Given the description of an element on the screen output the (x, y) to click on. 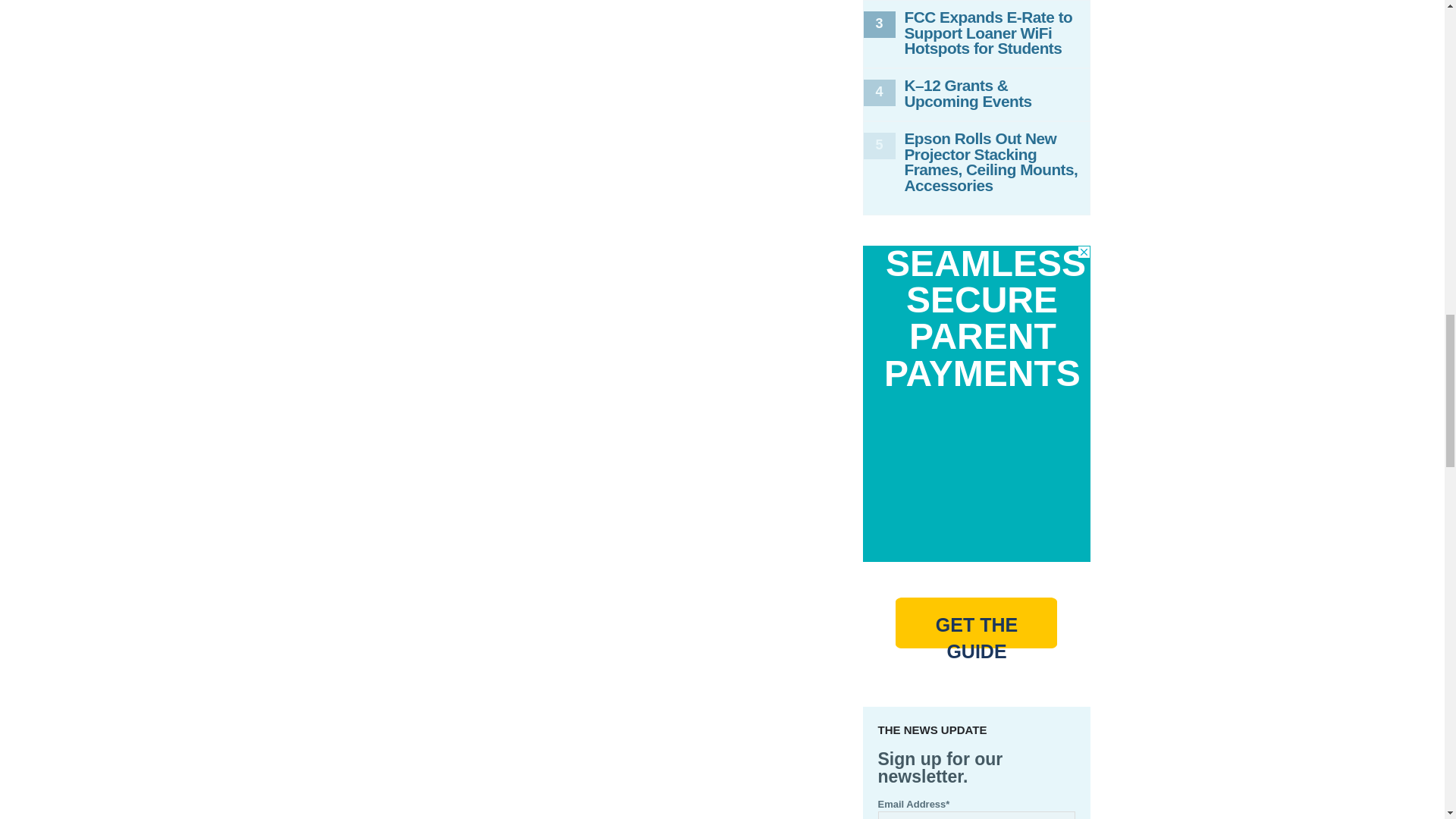
3rd party ad content (976, 473)
